Given the description of an element on the screen output the (x, y) to click on. 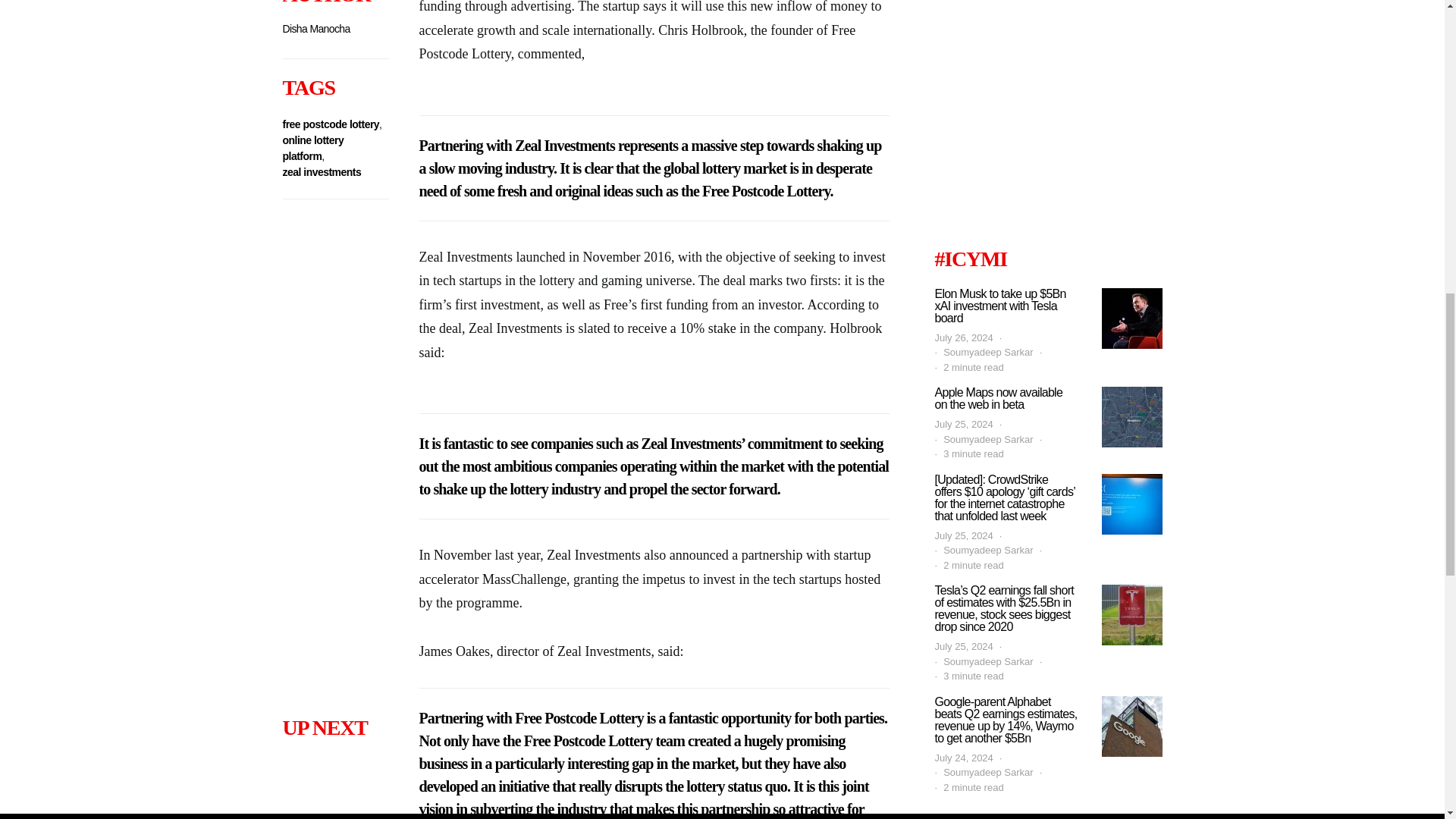
zeal investments (321, 172)
free postcode lottery (330, 123)
Disha Manocha (315, 28)
online lottery platform (312, 148)
